Given the description of an element on the screen output the (x, y) to click on. 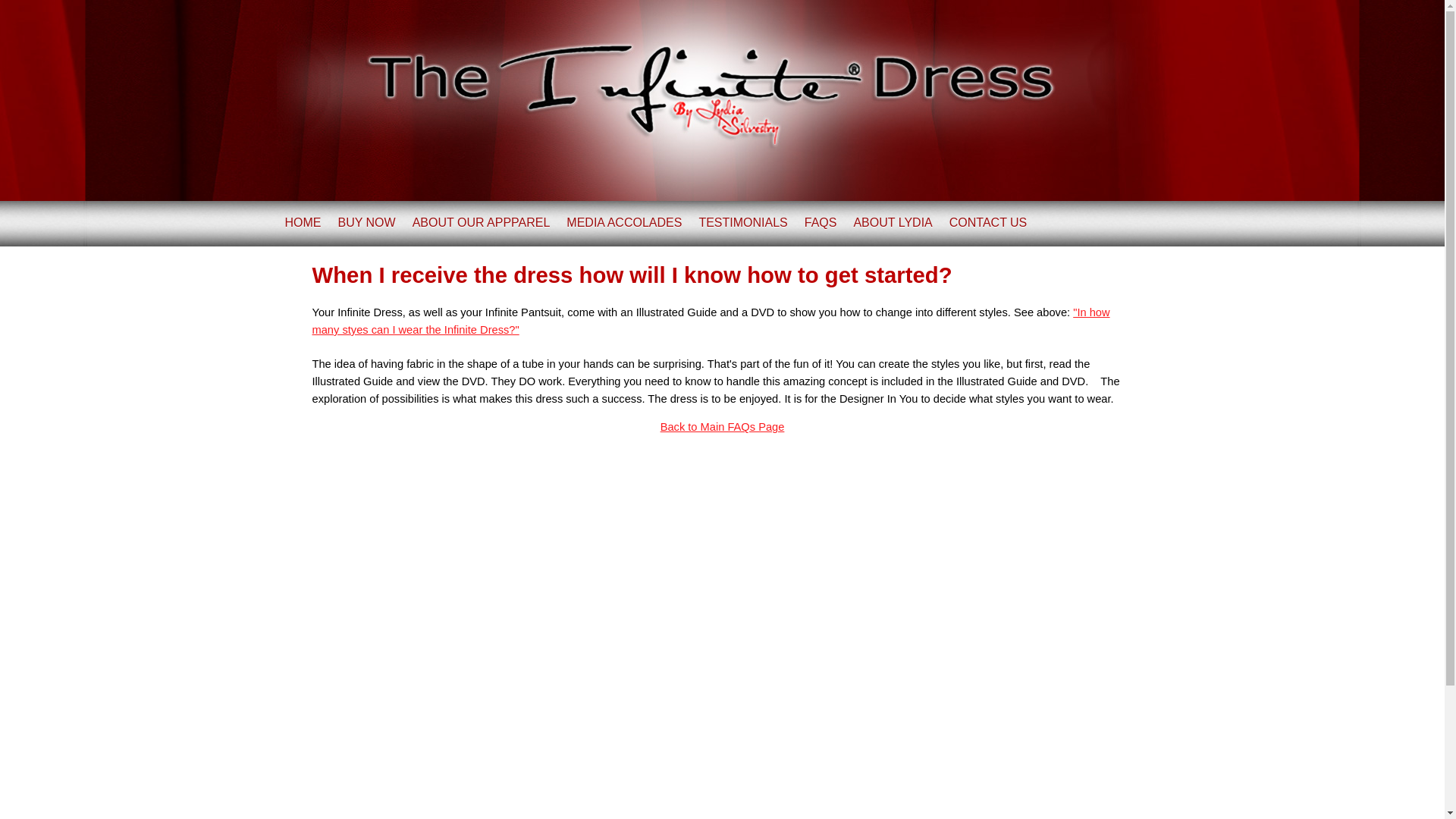
Back to Main FAQs Page (722, 426)
TESTIMONIALS (742, 222)
"In how many styes can I wear the Infinite Dress?" (711, 320)
HOME (303, 222)
MEDIA ACCOLADES (623, 222)
BUY NOW (366, 222)
CONTACT US (988, 222)
FAQS (821, 222)
ABOUT LYDIA (892, 222)
